Given the description of an element on the screen output the (x, y) to click on. 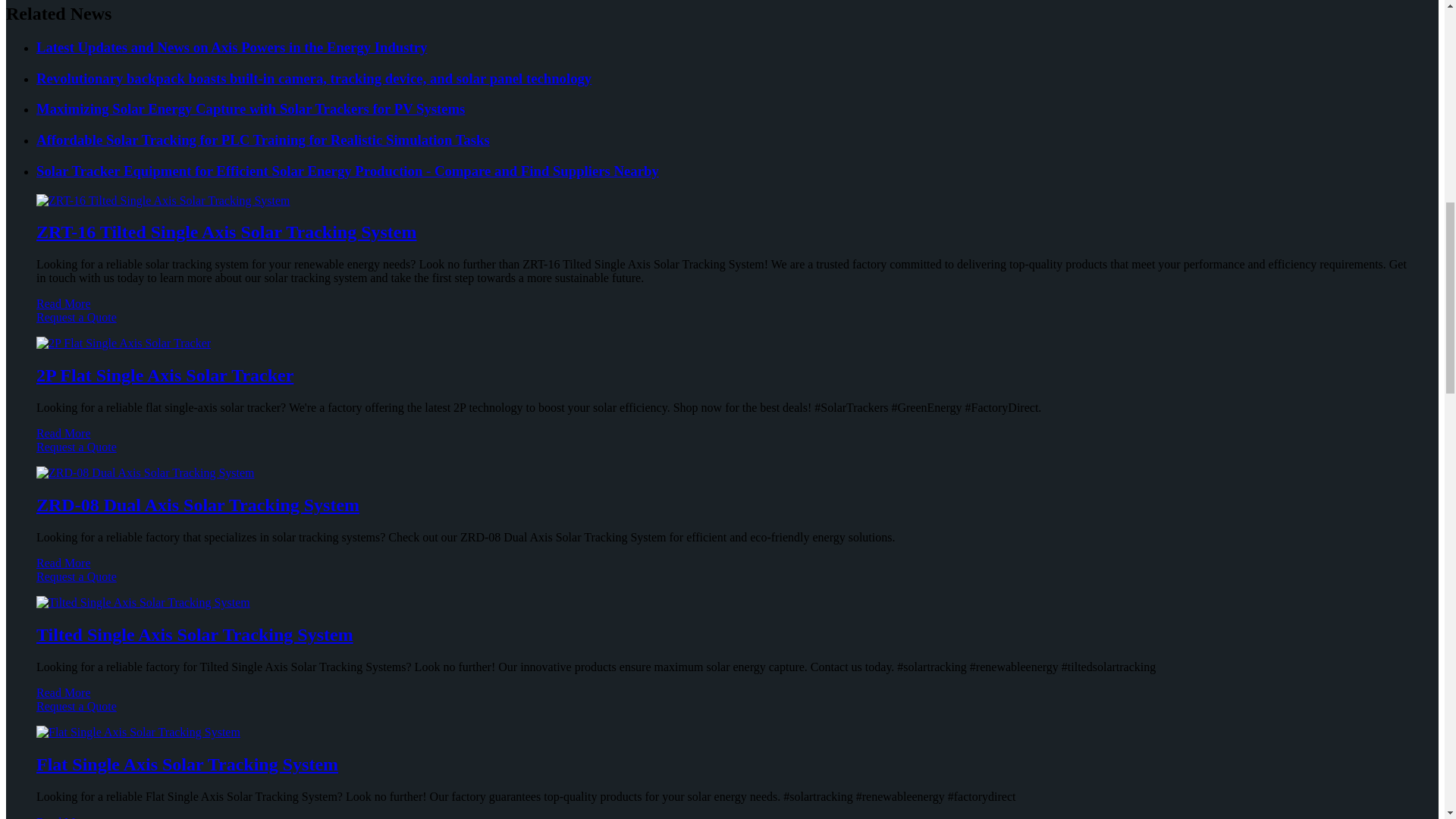
Read More (63, 562)
Read More (63, 303)
2P Flat Single Axis Solar Tracker (165, 374)
Read More (63, 432)
ZRD-08 Dual Axis Solar Tracking System (197, 505)
Request a Quote (721, 453)
ZRT-16 Tilted Single Axis Solar Tracking System (226, 231)
Request a Quote (721, 324)
